Given the description of an element on the screen output the (x, y) to click on. 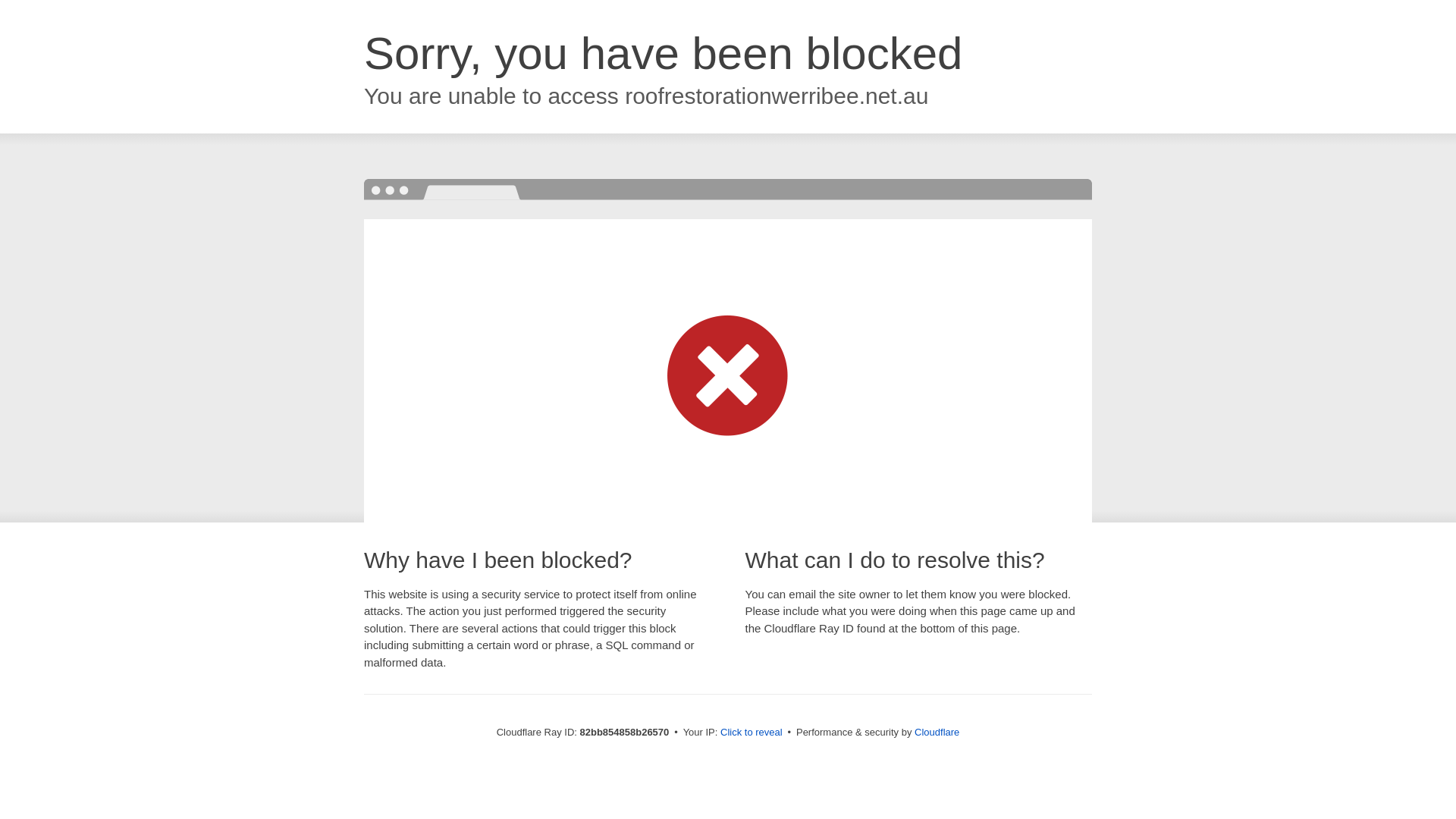
Click to reveal Element type: text (751, 732)
Cloudflare Element type: text (936, 731)
